Given the description of an element on the screen output the (x, y) to click on. 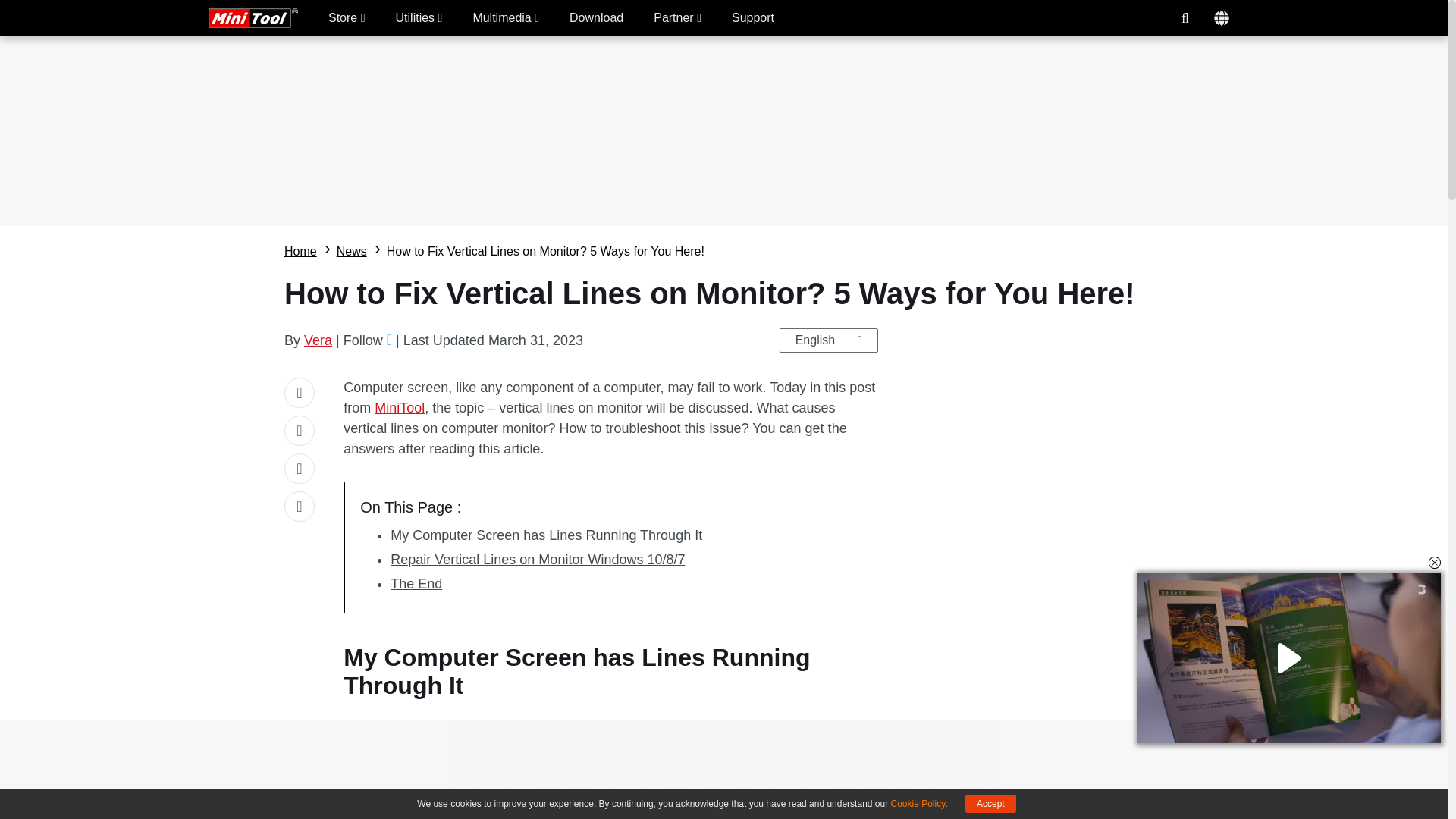
3rd party ad content (1049, 472)
3rd party ad content (724, 754)
MiniTool Home (253, 16)
Store (347, 18)
Utilities (419, 18)
